Given the description of an element on the screen output the (x, y) to click on. 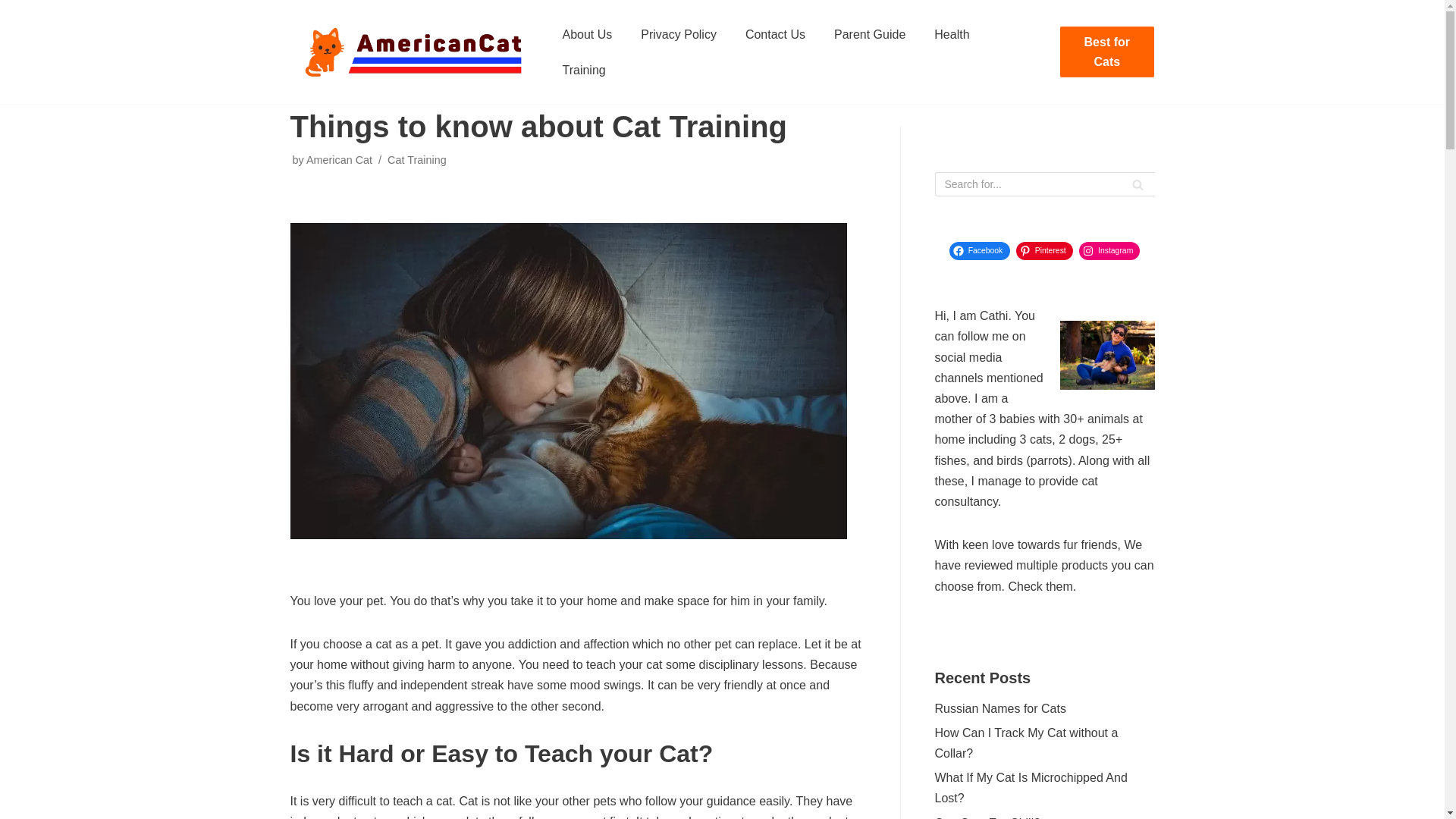
Cat Training (416, 159)
Facebook (979, 250)
Instagram (1109, 250)
Parent Guide (869, 34)
Best for Cats (1106, 51)
Health (951, 34)
Posts by American Cat (338, 159)
Pinterest (1044, 250)
Contact Us (775, 34)
Privacy Policy (678, 34)
